Given the description of an element on the screen output the (x, y) to click on. 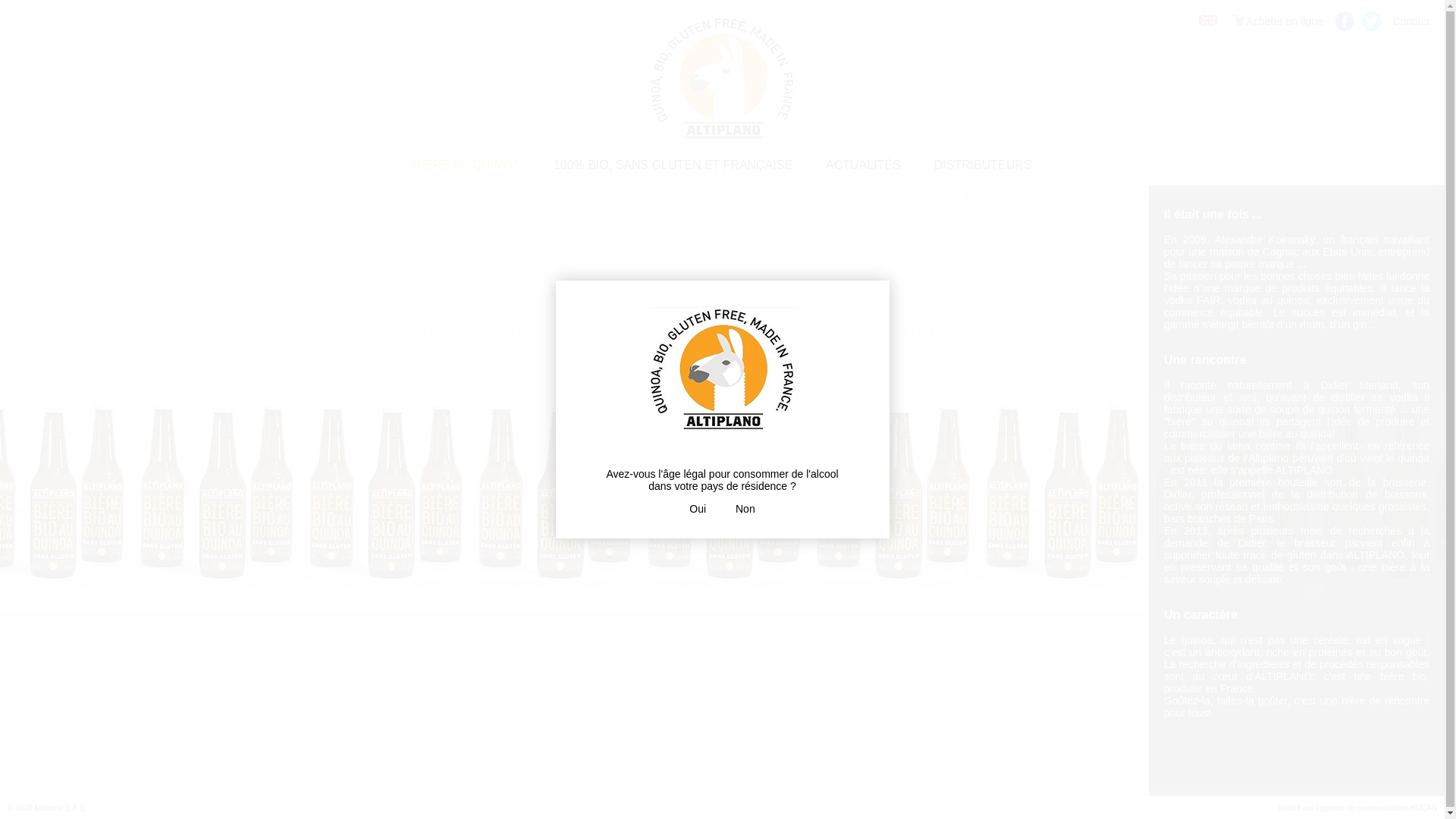
Oui Element type: text (697, 508)
DISTRIBUTEURS Element type: text (983, 164)
Contact Element type: text (1411, 20)
agence de communication HUCAN Element type: text (1378, 807)
Acheter en ligne Element type: text (1277, 20)
Non Element type: text (745, 508)
